Given the description of an element on the screen output the (x, y) to click on. 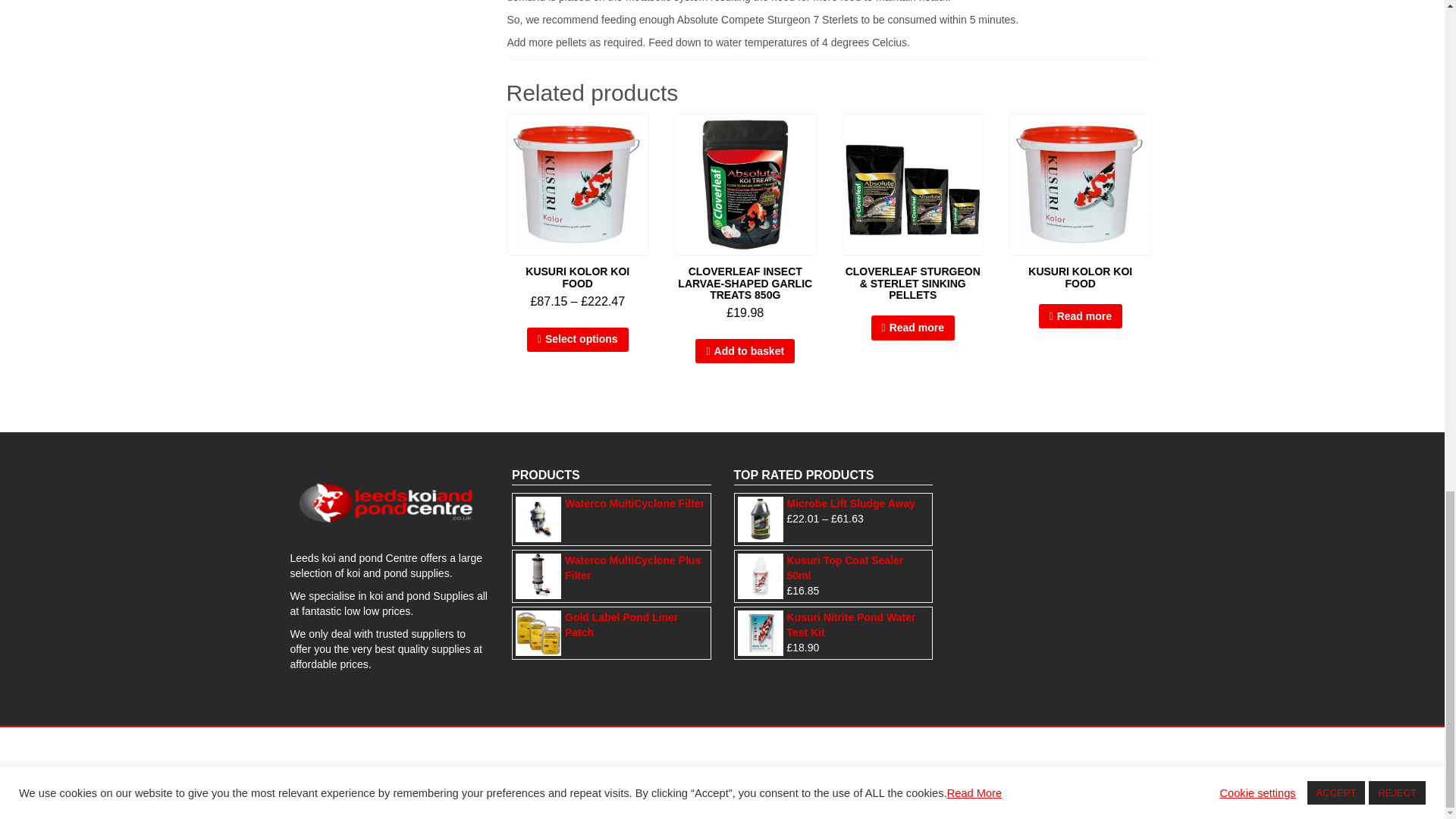
Add to basket (744, 351)
Select options (577, 339)
